Given the description of an element on the screen output the (x, y) to click on. 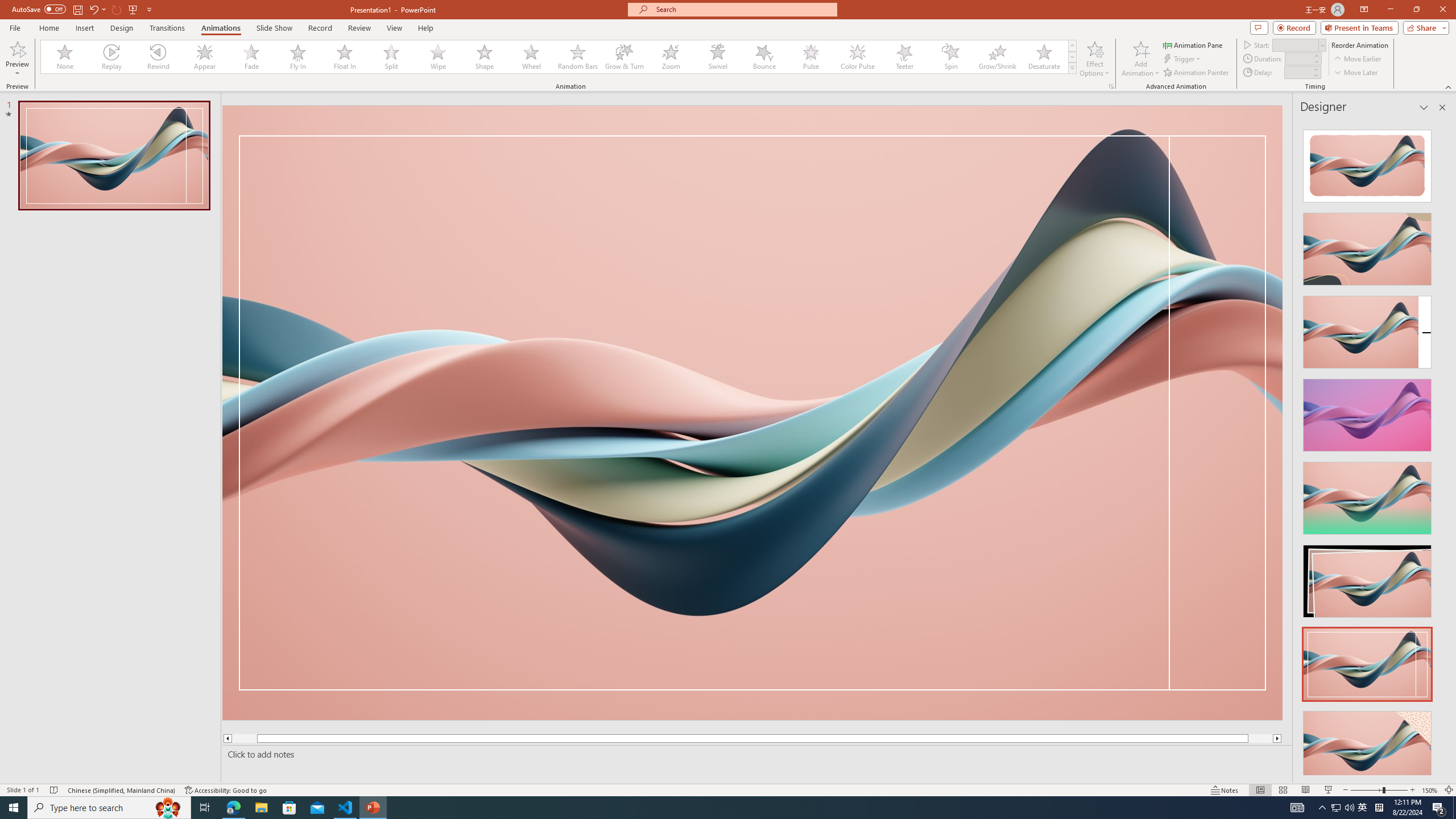
Effect Options (1094, 58)
Wipe (437, 56)
Random Bars (577, 56)
Spin (950, 56)
Fly In (298, 56)
Move Earlier (1357, 58)
Grow & Turn (624, 56)
